Given the description of an element on the screen output the (x, y) to click on. 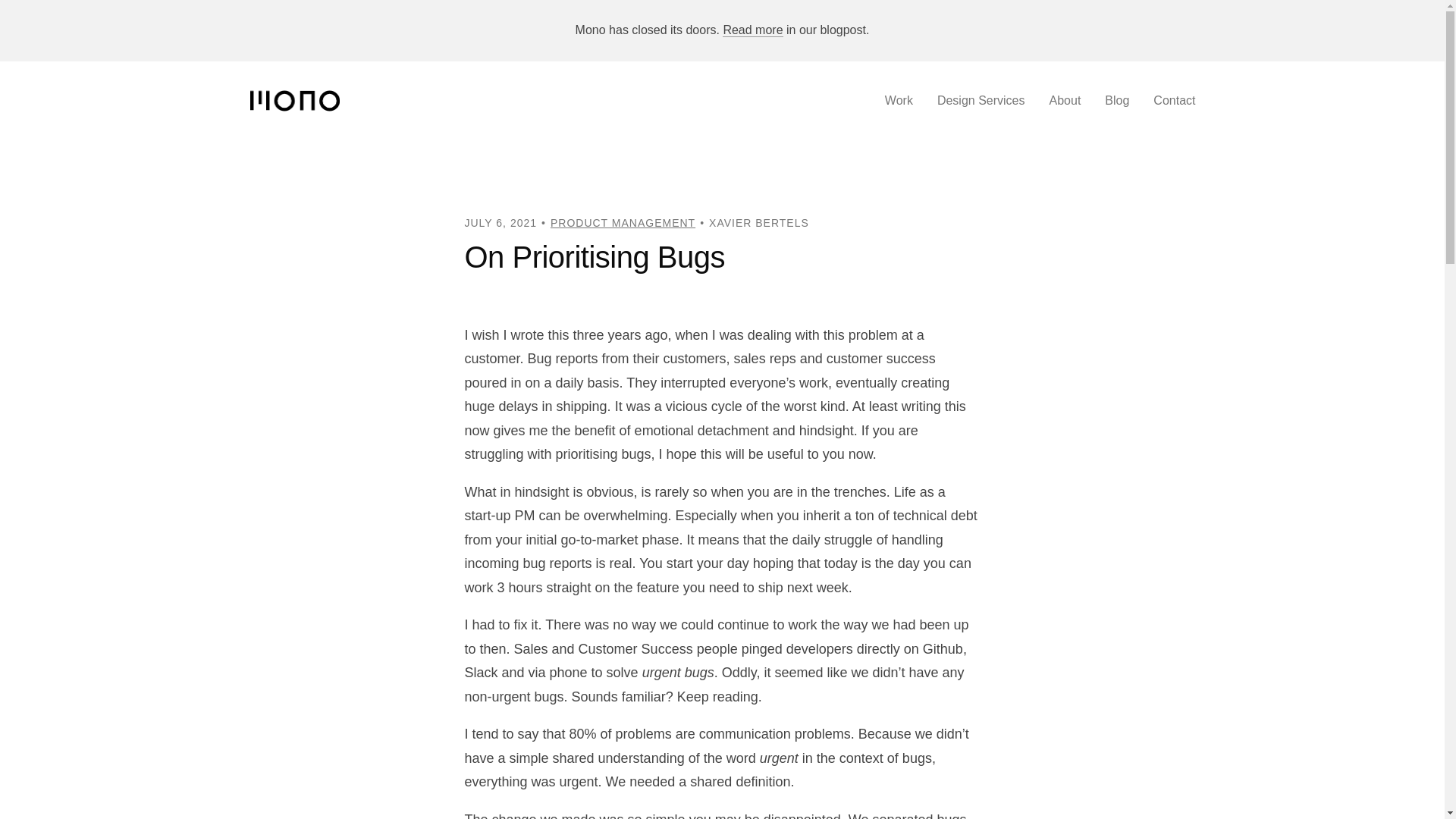
Blog (1117, 100)
Read more (752, 29)
Design Services (981, 100)
Contact (1174, 100)
PRODUCT MANAGEMENT (622, 223)
About (1065, 100)
Work (898, 100)
